Given the description of an element on the screen output the (x, y) to click on. 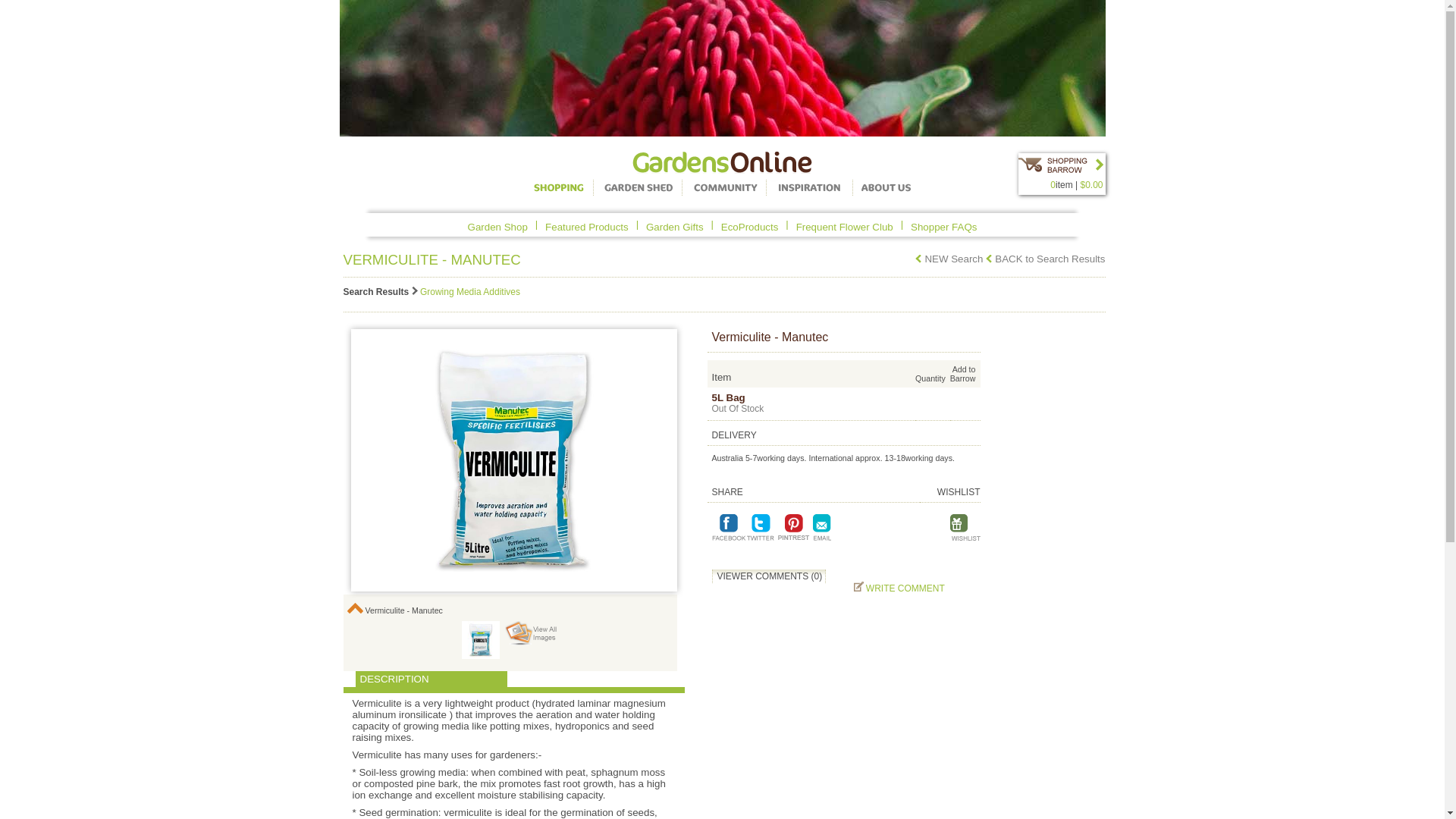
EcoProducts Element type: text (749, 224)
Add to Pintrest Element type: hover (793, 525)
Add to Wish List Element type: hover (964, 525)
NEW Search Element type: text (948, 258)
WRITE COMMENT Element type: text (902, 587)
Add to Facebook Element type: hover (727, 525)
Vermiculite - Manutec Element type: hover (480, 639)
Garden Shop Element type: text (497, 224)
BACK to Search Results Element type: text (1044, 258)
Add to Twitter Element type: hover (760, 525)
Frequent Flower Club Element type: text (844, 224)
Email to a friend Element type: hover (823, 525)
Featured Products Element type: text (586, 224)
Garden Gifts Element type: text (674, 224)
Shopper FAQs Element type: text (943, 224)
